Given the description of an element on the screen output the (x, y) to click on. 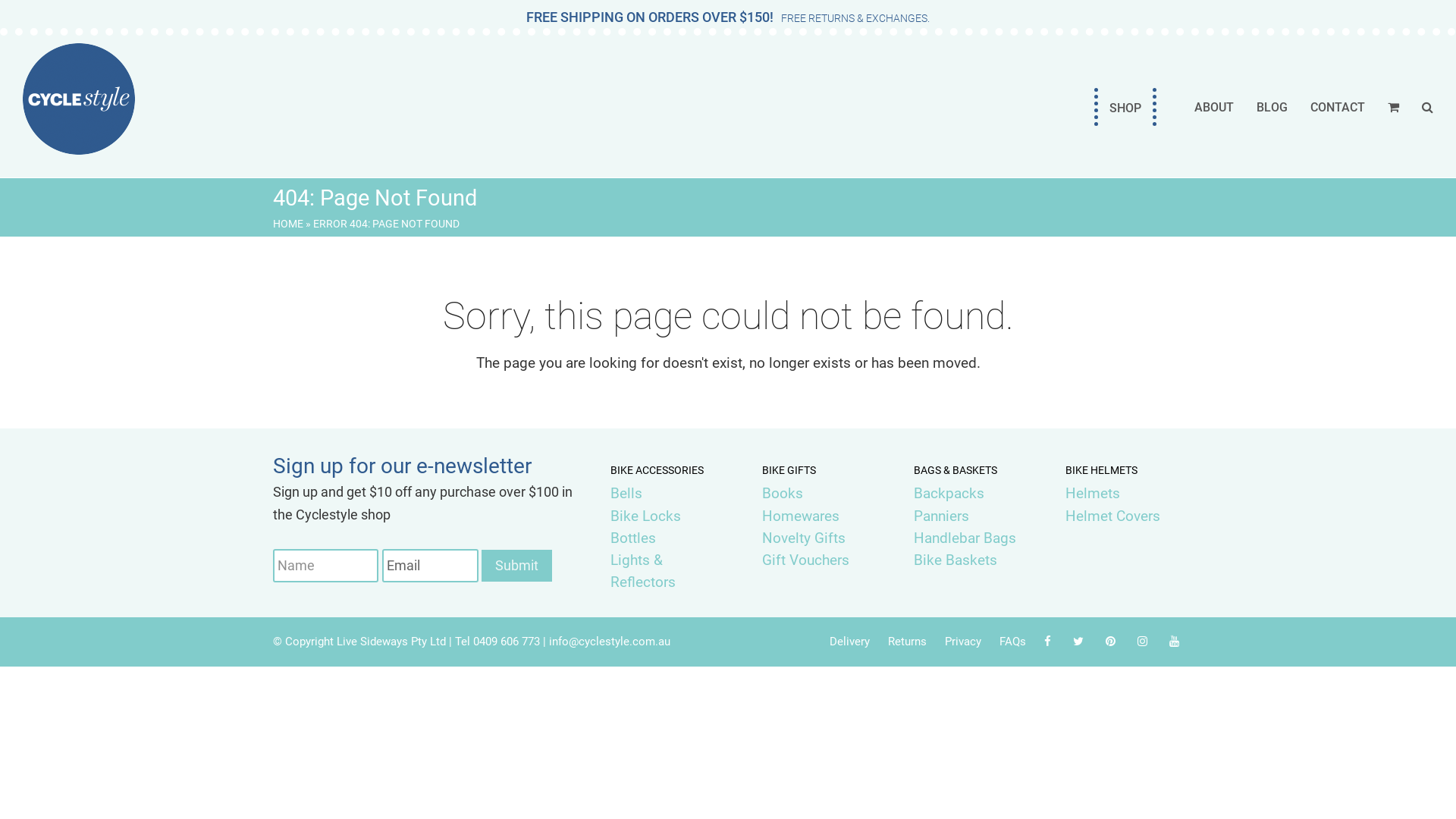
Panniers Element type: text (941, 515)
ABOUT Element type: text (1214, 106)
FAQs Element type: text (1012, 641)
Backpacks Element type: text (948, 493)
SHOP Element type: text (1125, 106)
Lights & Reflectors Element type: text (642, 570)
CONTACT Element type: text (1337, 106)
Bike Baskets Element type: text (955, 559)
Bells Element type: text (626, 493)
Books Element type: text (782, 493)
Homewares Element type: text (800, 515)
Handlebar Bags Element type: text (964, 537)
Gift Vouchers Element type: text (805, 559)
Delivery Element type: text (849, 641)
HOME Element type: text (288, 223)
Returns Element type: text (907, 641)
Bottles Element type: text (632, 537)
BLOG Element type: text (1272, 106)
Submit Element type: text (516, 565)
Helmets Element type: text (1092, 493)
Helmet Covers Element type: text (1112, 515)
Privacy Element type: text (962, 641)
Novelty Gifts Element type: text (803, 537)
Bike Locks Element type: text (645, 515)
